Given the description of an element on the screen output the (x, y) to click on. 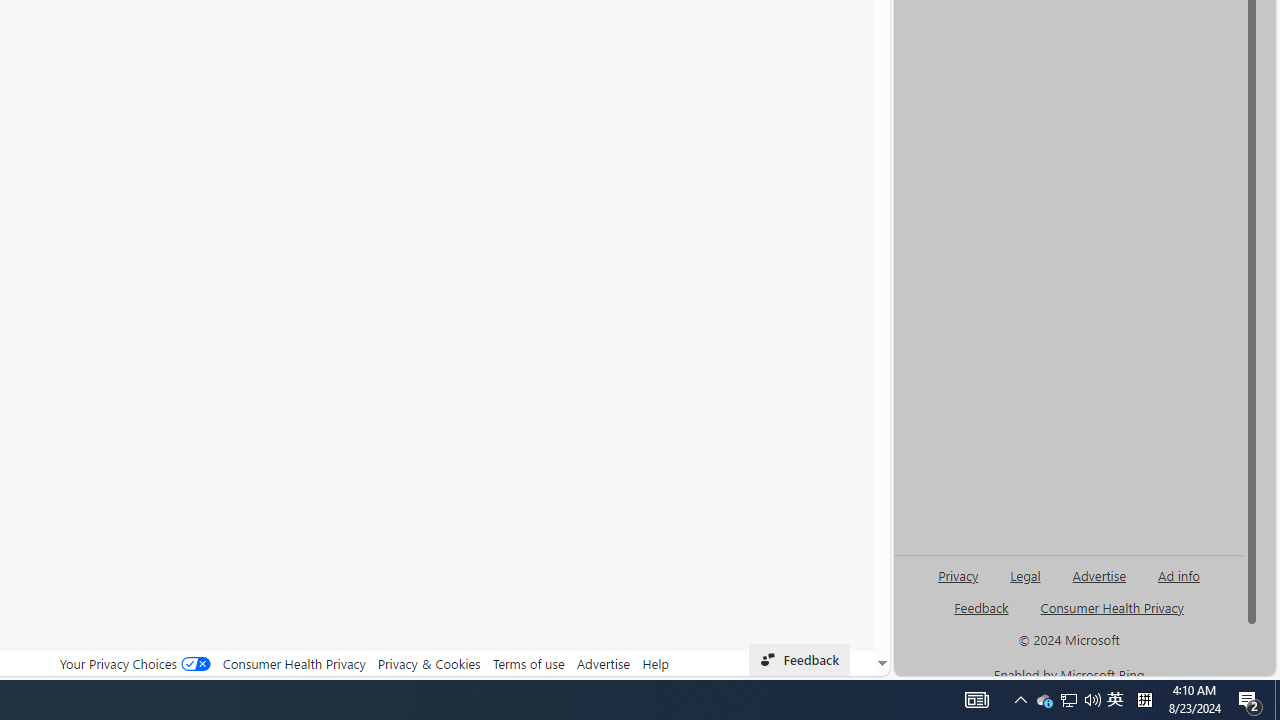
AutomationID: sb_feedback (980, 607)
Privacy & Cookies (429, 663)
AutomationID: genId96 (981, 615)
Consumer Health Privacy (293, 663)
Terms of use (527, 663)
Help (655, 663)
Your Privacy Choices (134, 663)
